Given the description of an element on the screen output the (x, y) to click on. 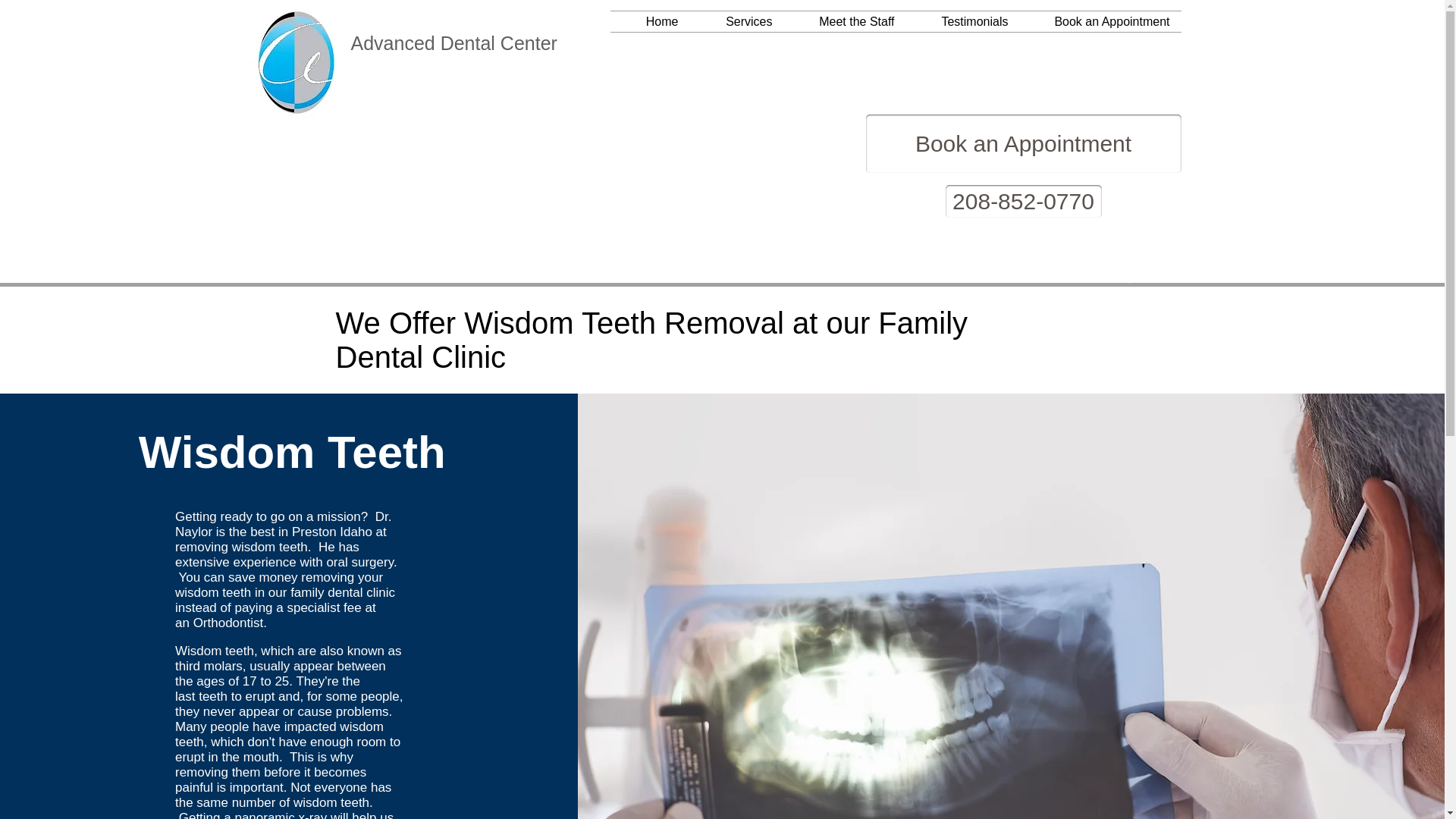
Book an Appointment (1099, 21)
Meet the Staff (844, 21)
Testimonials (962, 21)
Book an Appointment (1023, 143)
Home (649, 21)
208-852-0770 (1022, 201)
